Given the description of an element on the screen output the (x, y) to click on. 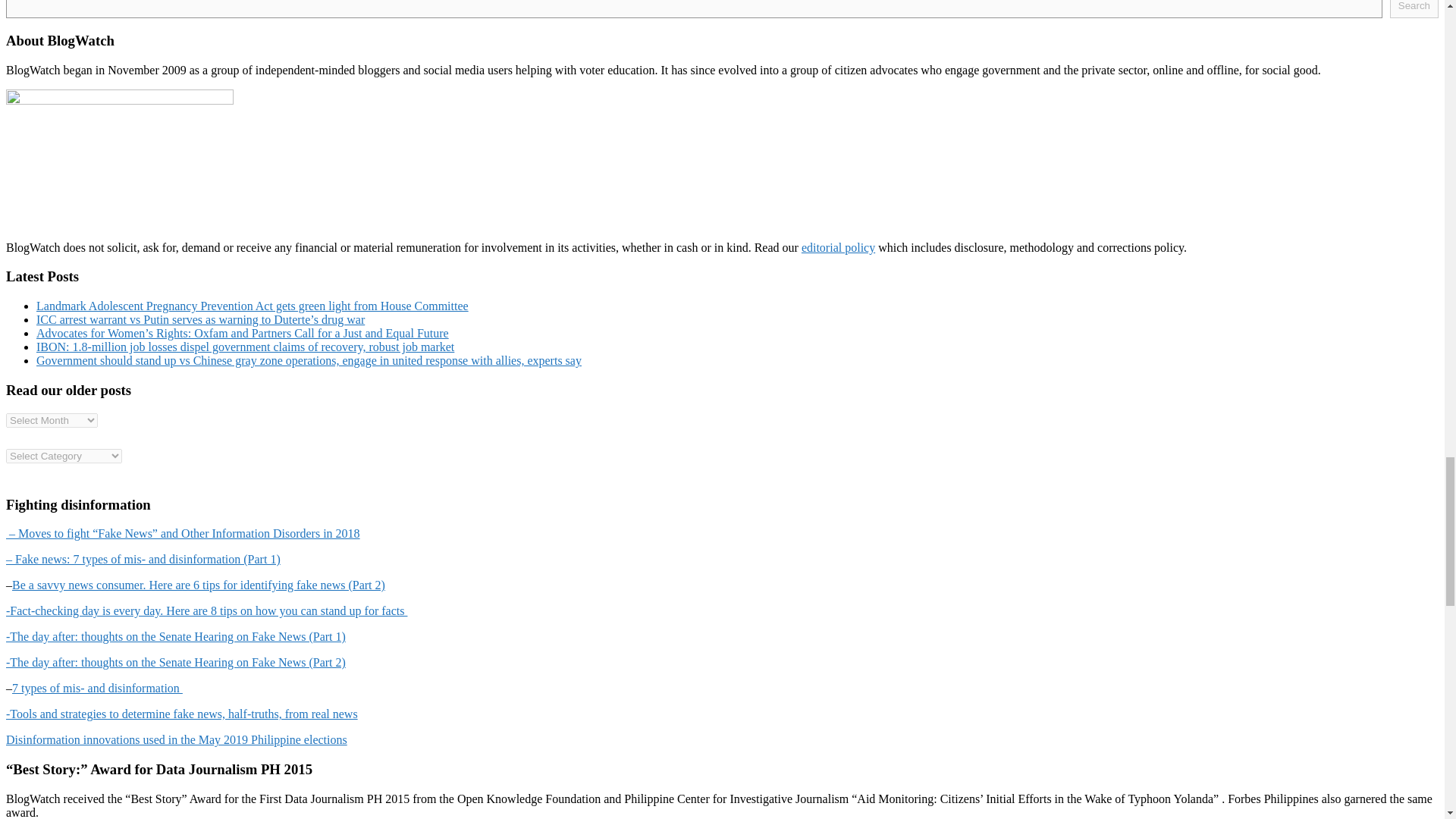
7 types of mis- and disinformation  (97, 687)
editorial policy (838, 246)
